Given the description of an element on the screen output the (x, y) to click on. 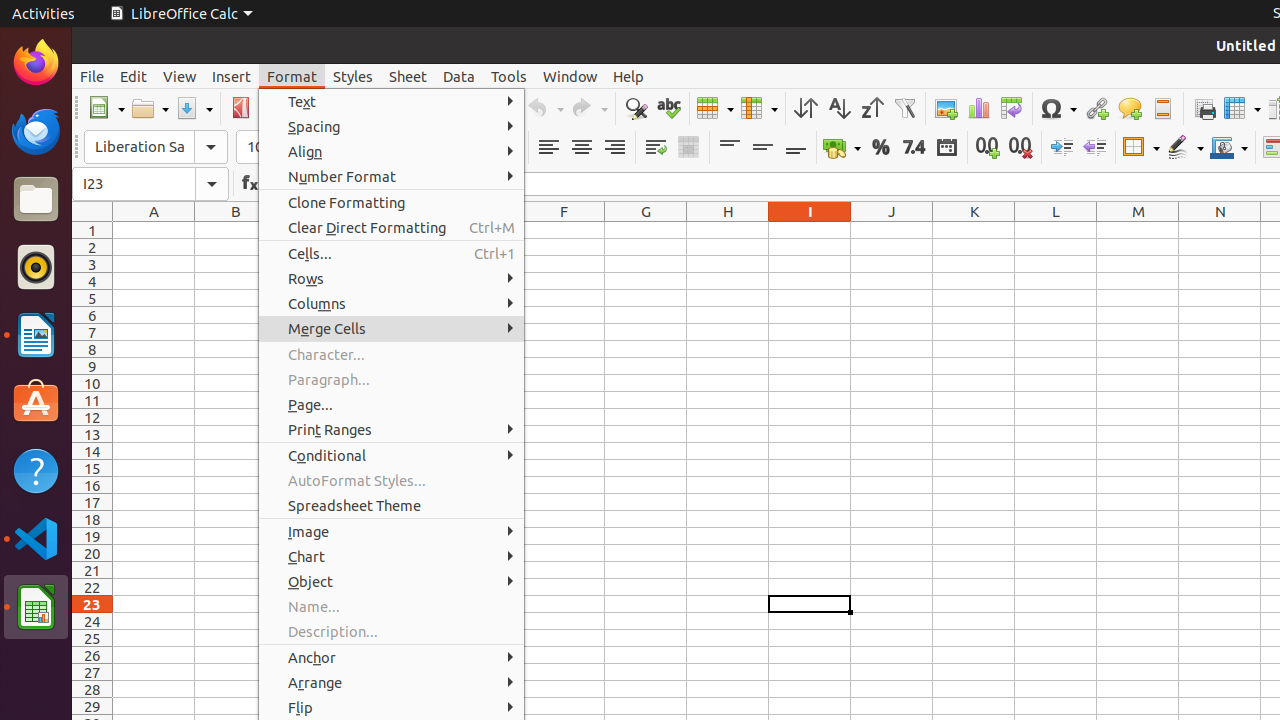
Number Format Element type: menu (391, 176)
Edit Element type: menu (133, 76)
Conditional Element type: menu (391, 455)
